Given the description of an element on the screen output the (x, y) to click on. 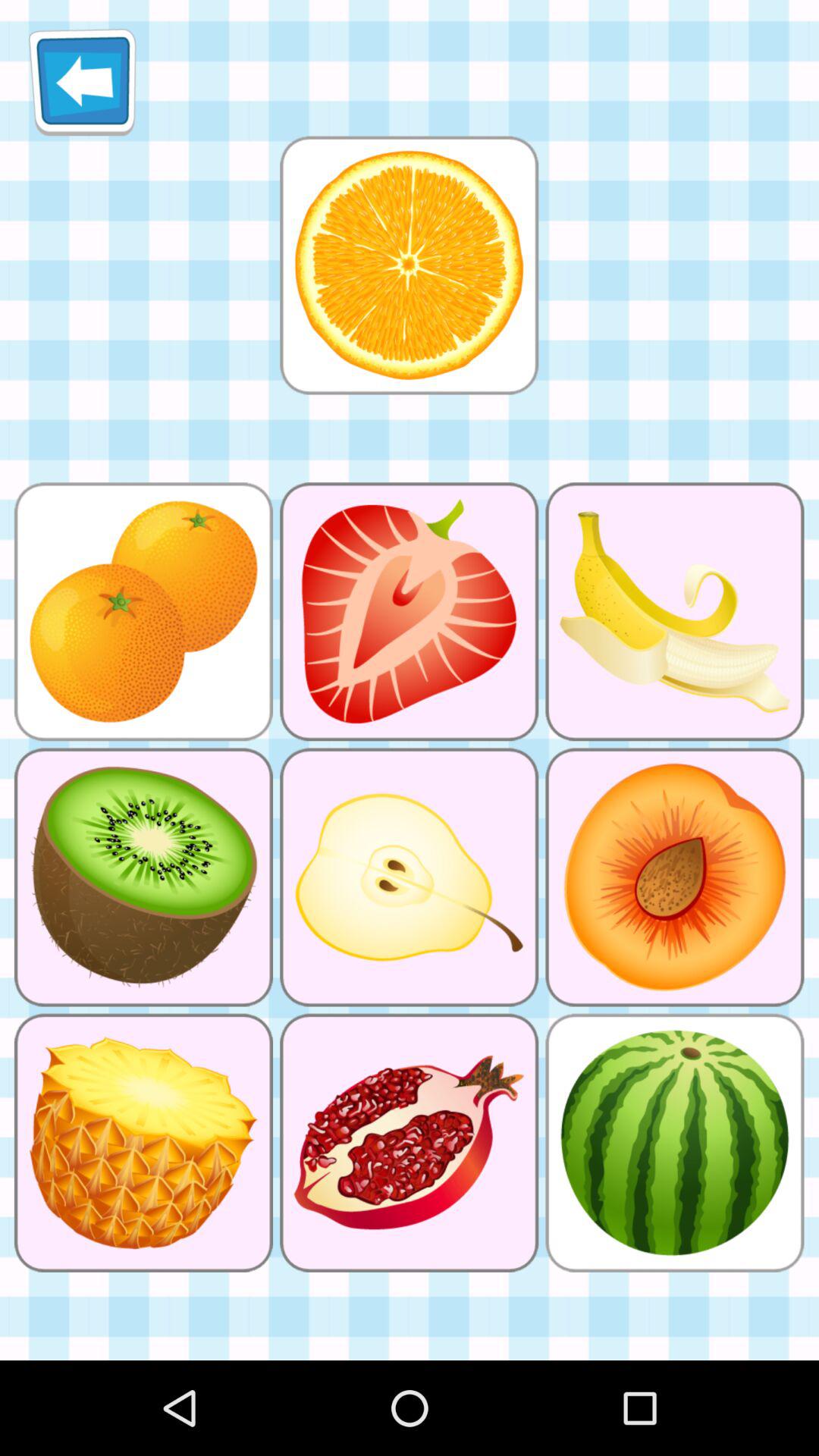
toggle selection (409, 265)
